Given the description of an element on the screen output the (x, y) to click on. 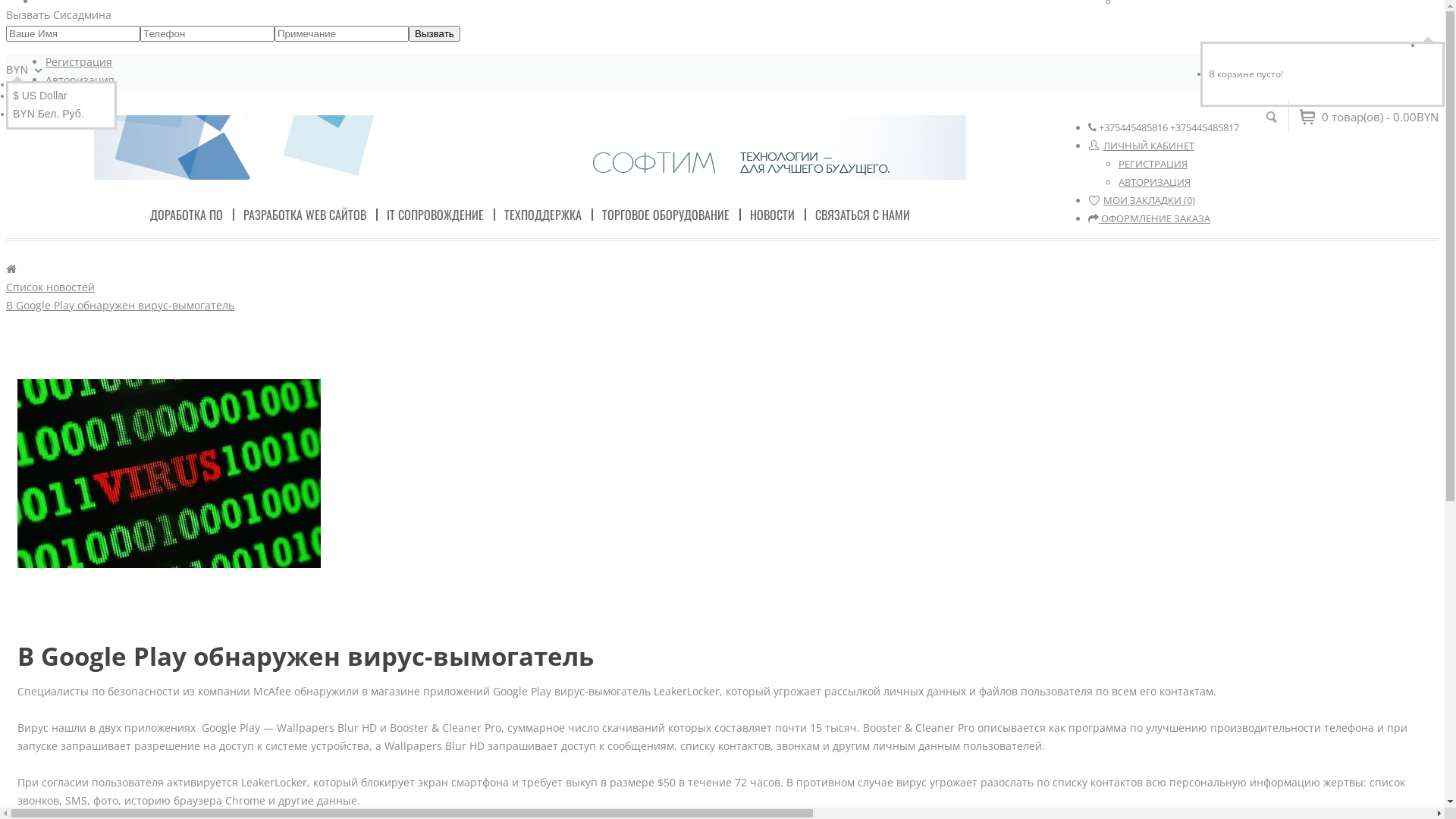
$ US Dollar Element type: text (40, 95)
BYN Element type: text (25, 70)
+375445485816 +375445485817 Element type: hover (1092, 127)
